Given the description of an element on the screen output the (x, y) to click on. 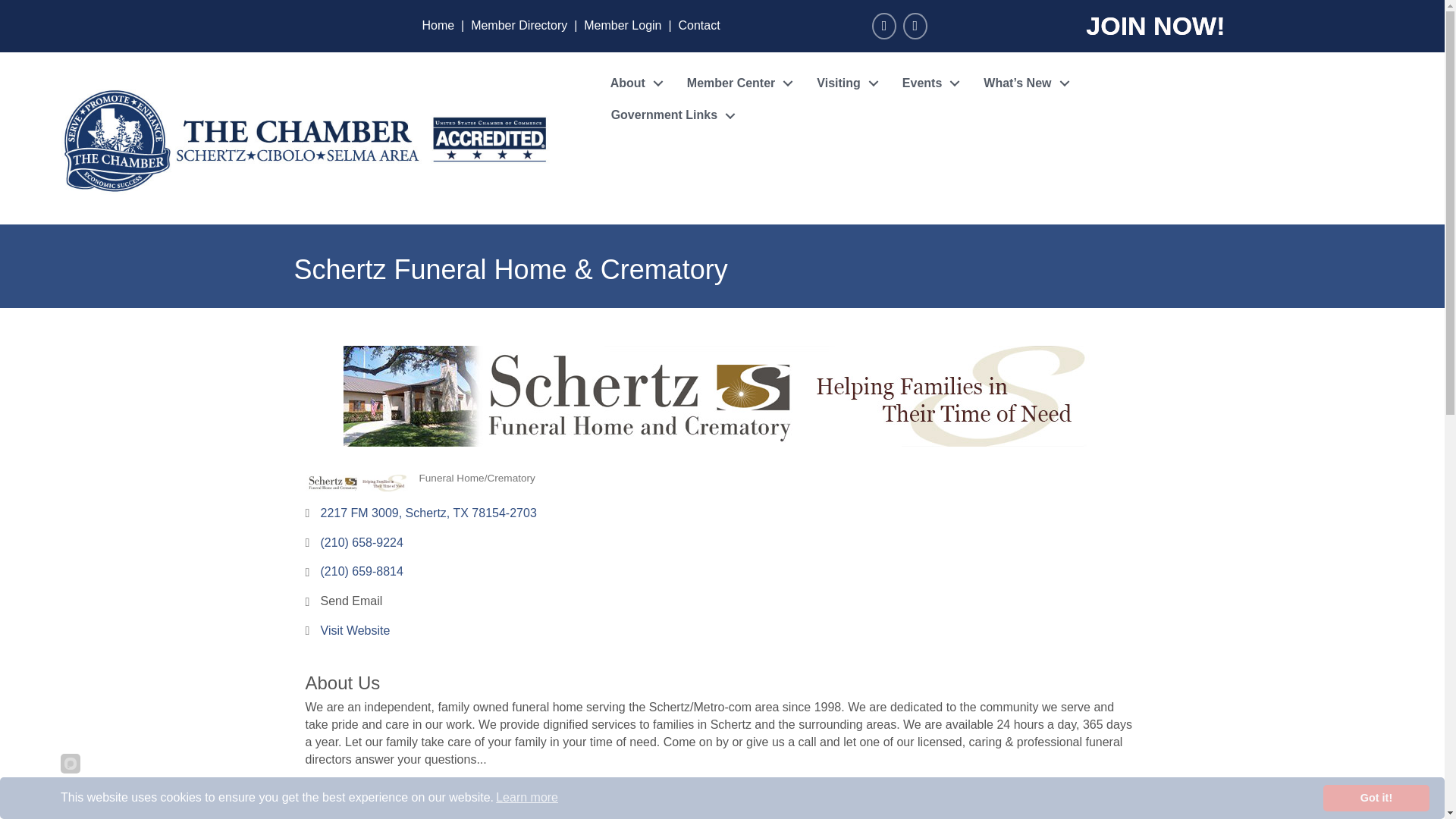
Member Center (735, 83)
Home (438, 24)
About (633, 83)
Contact (698, 24)
Member Login (622, 24)
TCOC-Horiz-Blue-Logo (304, 138)
Member Directory (518, 24)
JOIN NOW! (1155, 25)
Visiting (844, 83)
